Given the description of an element on the screen output the (x, y) to click on. 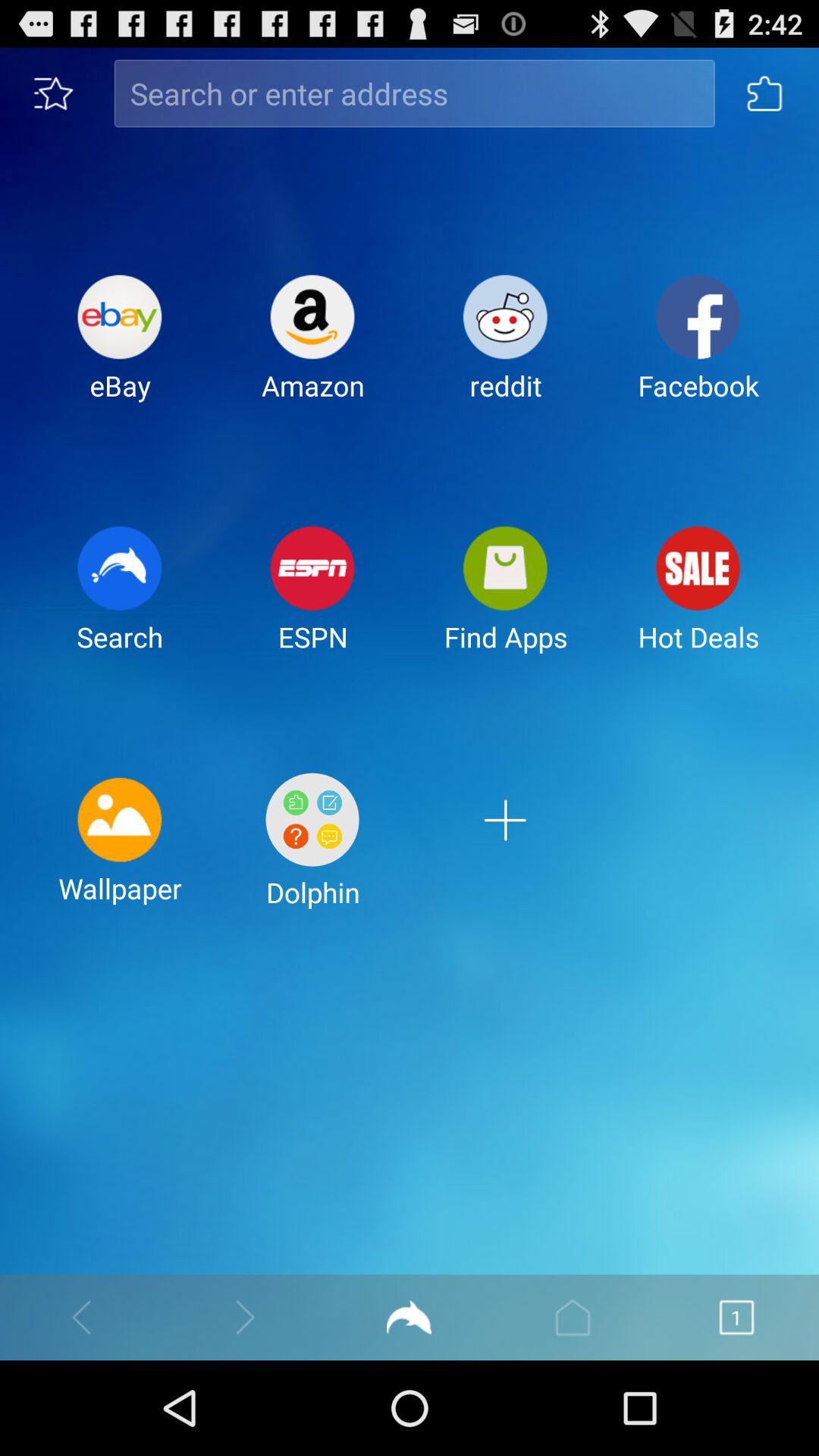
launch the icon to the left of the dolphin item (119, 852)
